Given the description of an element on the screen output the (x, y) to click on. 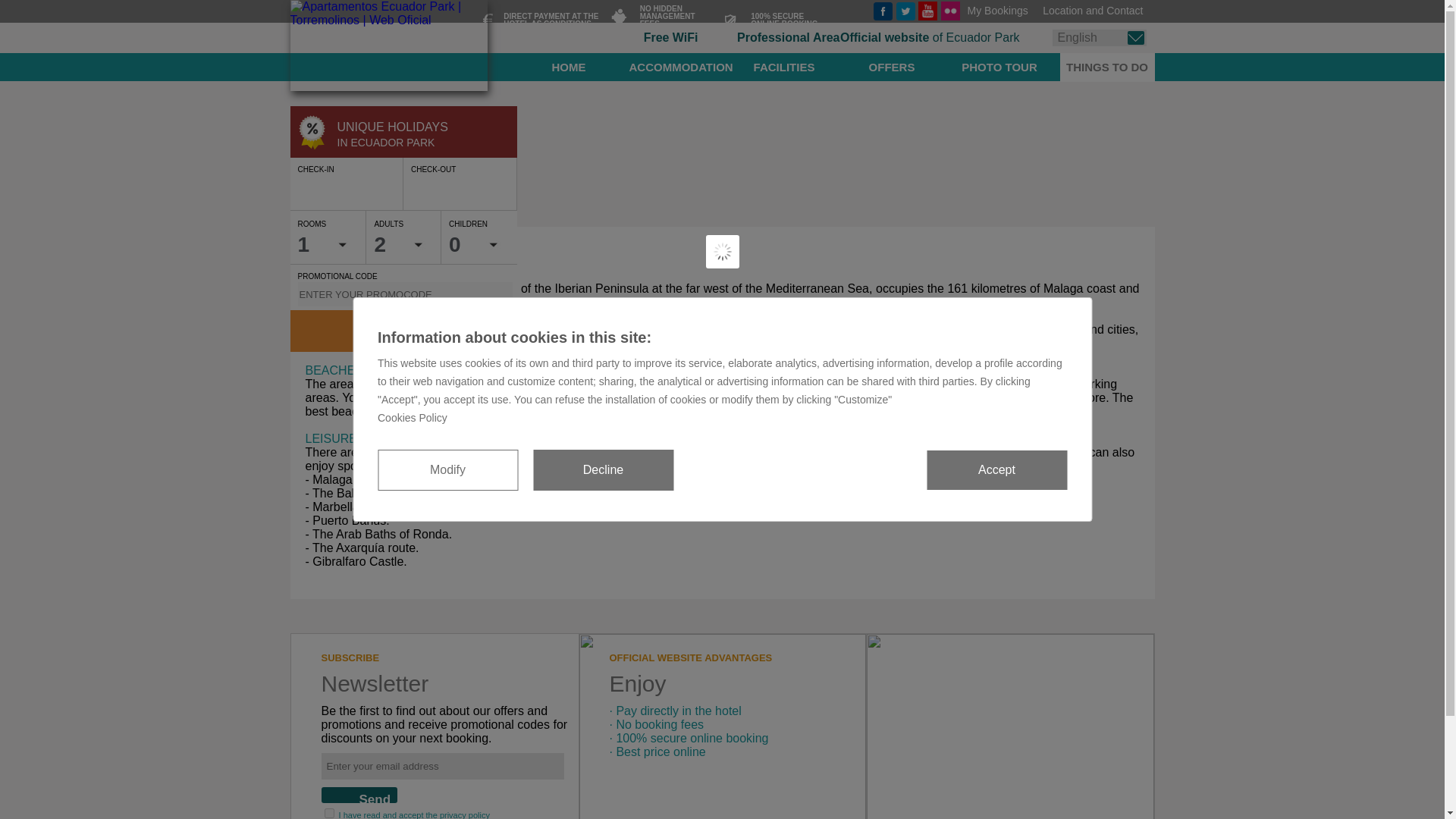
Decline (602, 469)
Send (359, 795)
Modify (447, 469)
Location and Contact (1098, 10)
HOME (568, 67)
My Bookings (1005, 10)
PHOTO TOUR (998, 67)
Cookies Policy (722, 425)
BOOK HERE (402, 331)
OFFERS (892, 67)
THINGS TO DO (1106, 67)
I have read and accept the privacy policy (414, 814)
FACILITIES (784, 67)
ACCOMMODATION (680, 67)
Professional Area (788, 38)
